Given the description of an element on the screen output the (x, y) to click on. 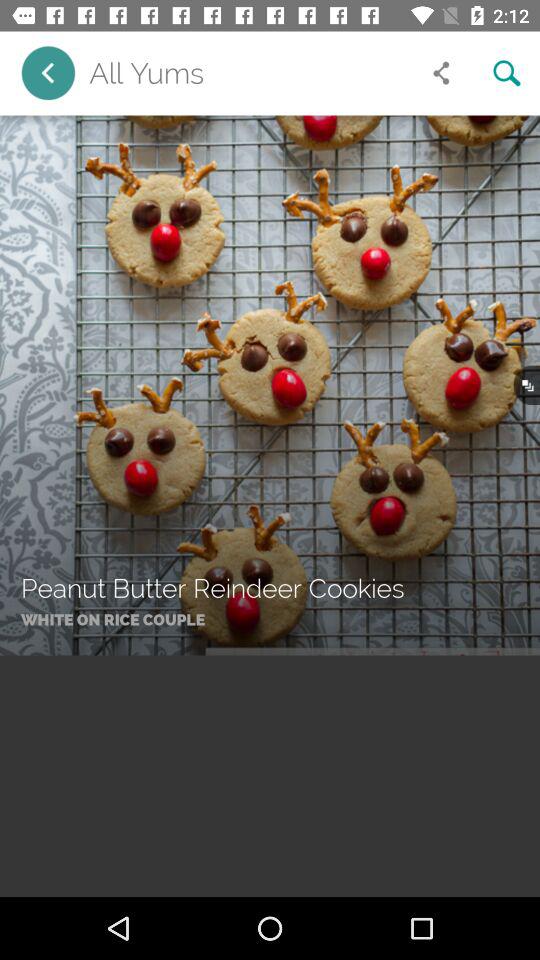
switch to previous page (48, 72)
